Given the description of an element on the screen output the (x, y) to click on. 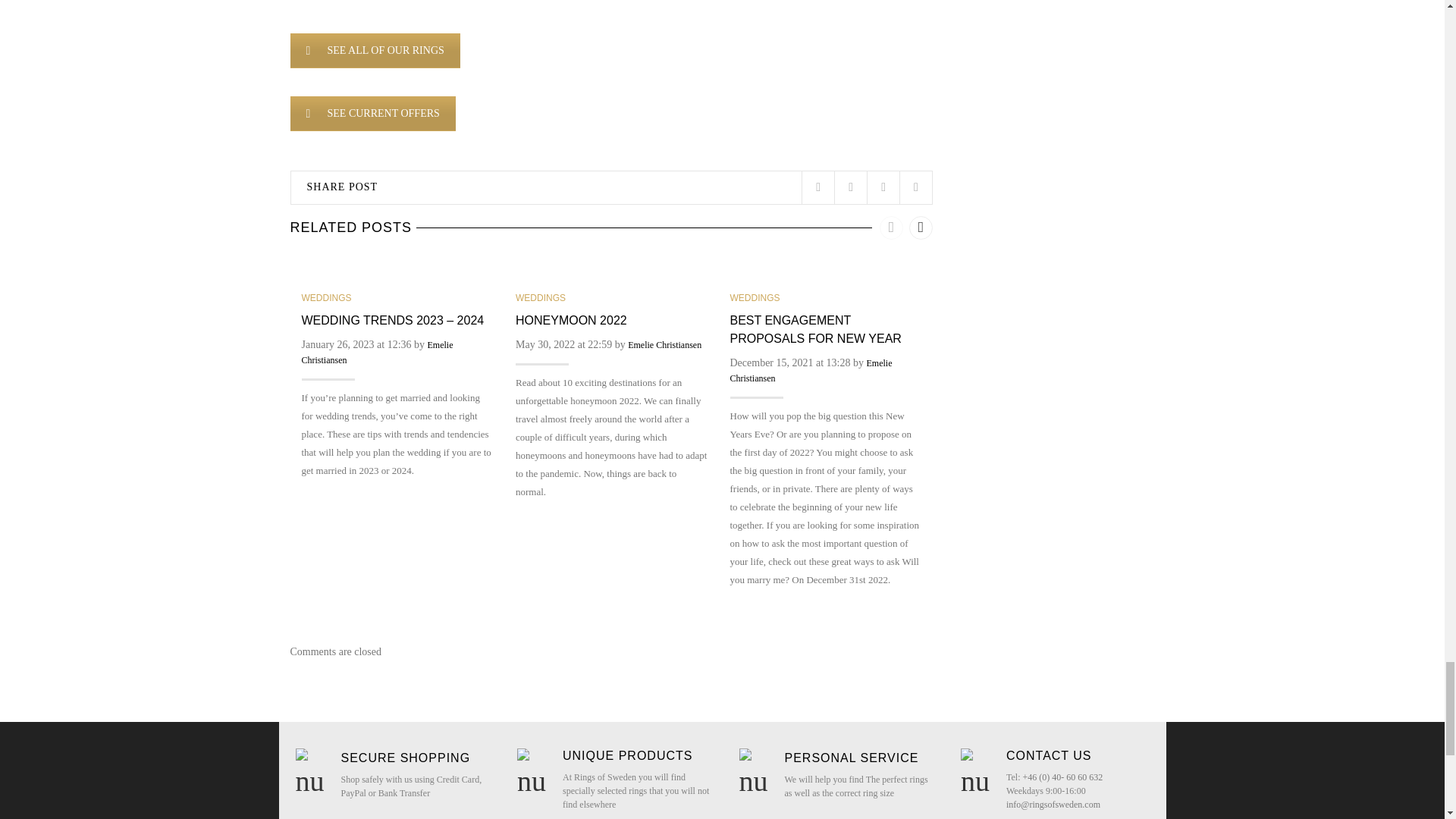
Twitter (818, 187)
